Given the description of an element on the screen output the (x, y) to click on. 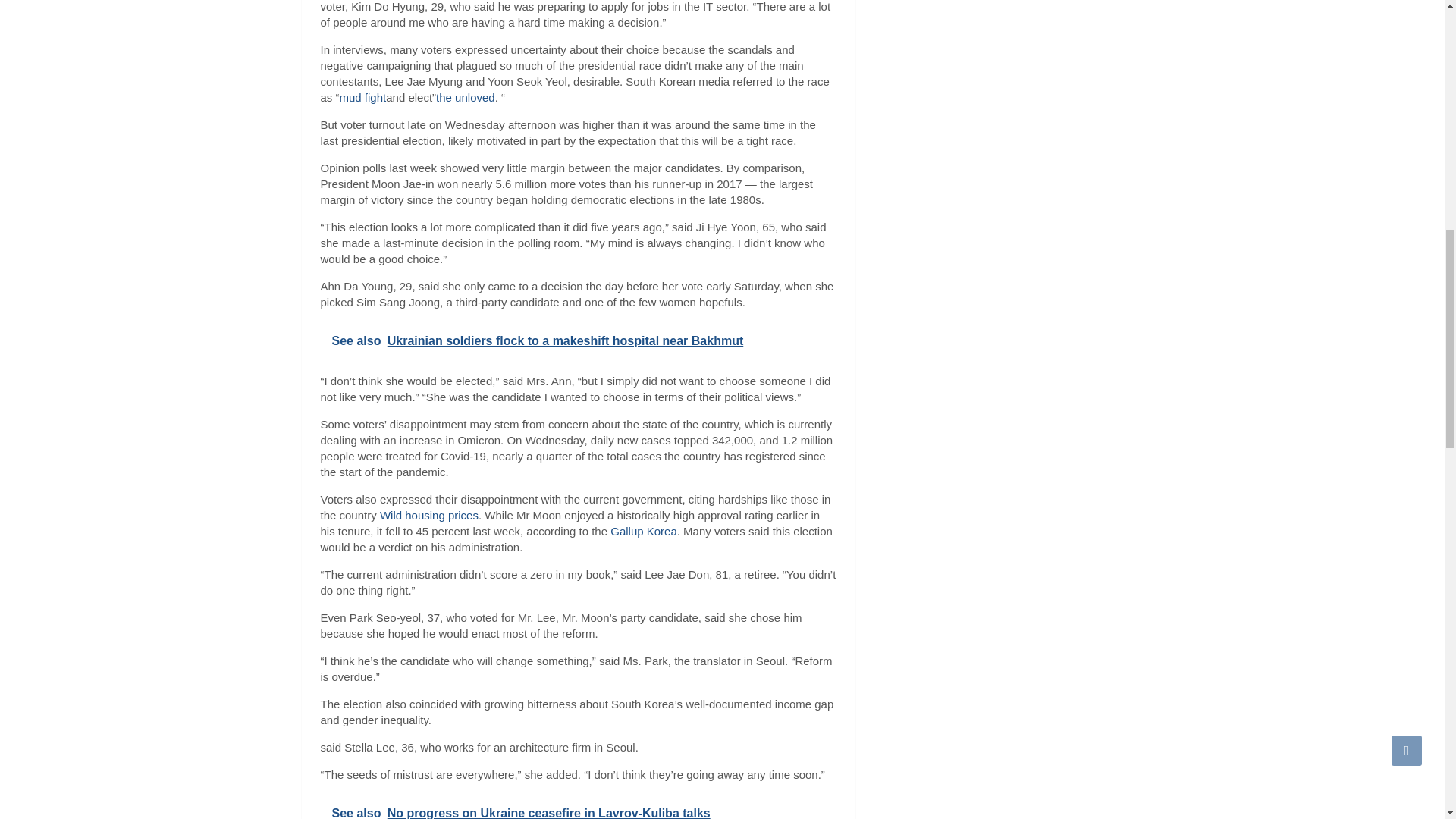
mud fight (363, 97)
the unloved (465, 97)
Wild housing prices (429, 514)
Gallup Korea (643, 530)
